Given the description of an element on the screen output the (x, y) to click on. 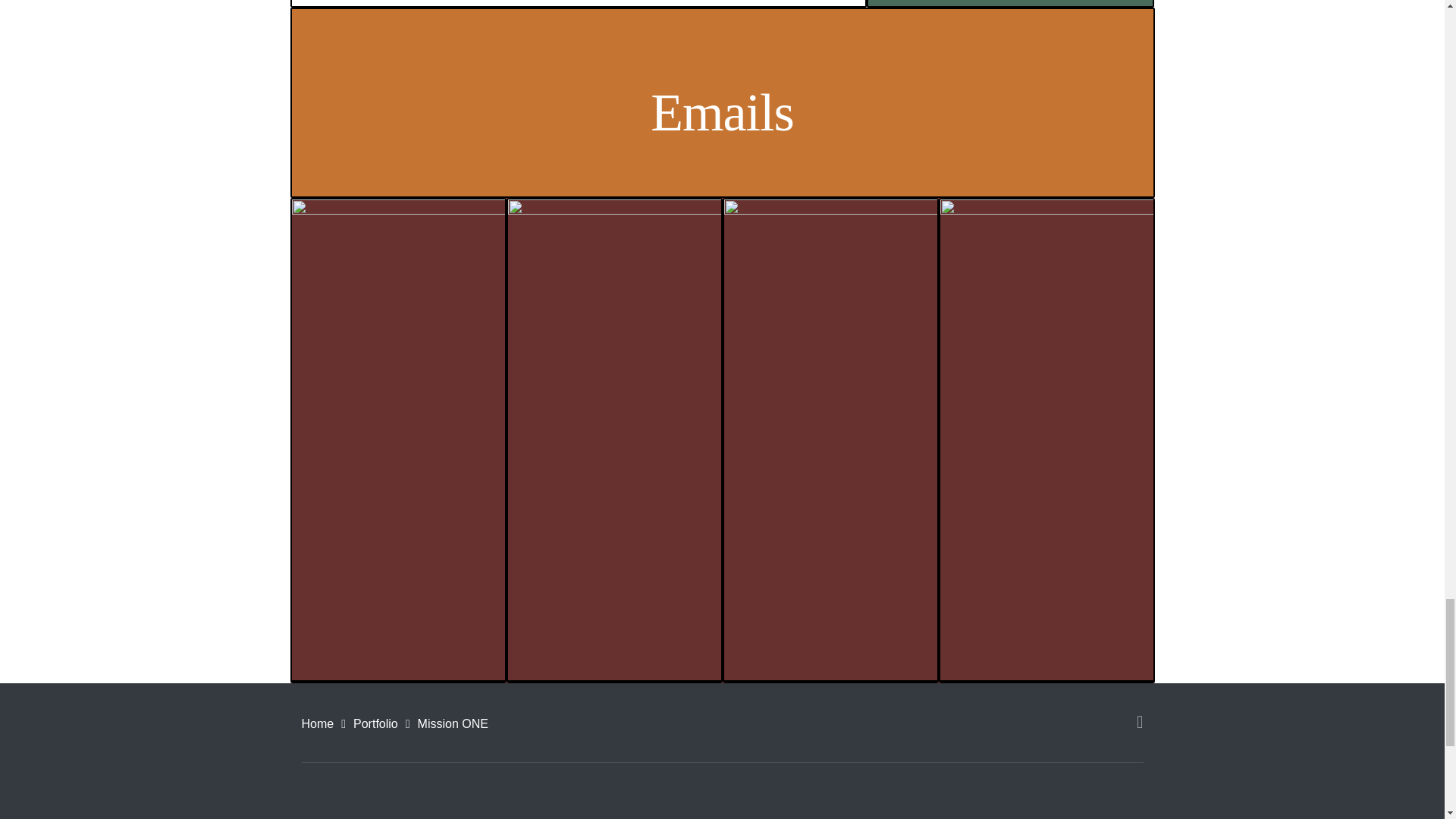
Portfolio (375, 723)
Home (317, 723)
